Given the description of an element on the screen output the (x, y) to click on. 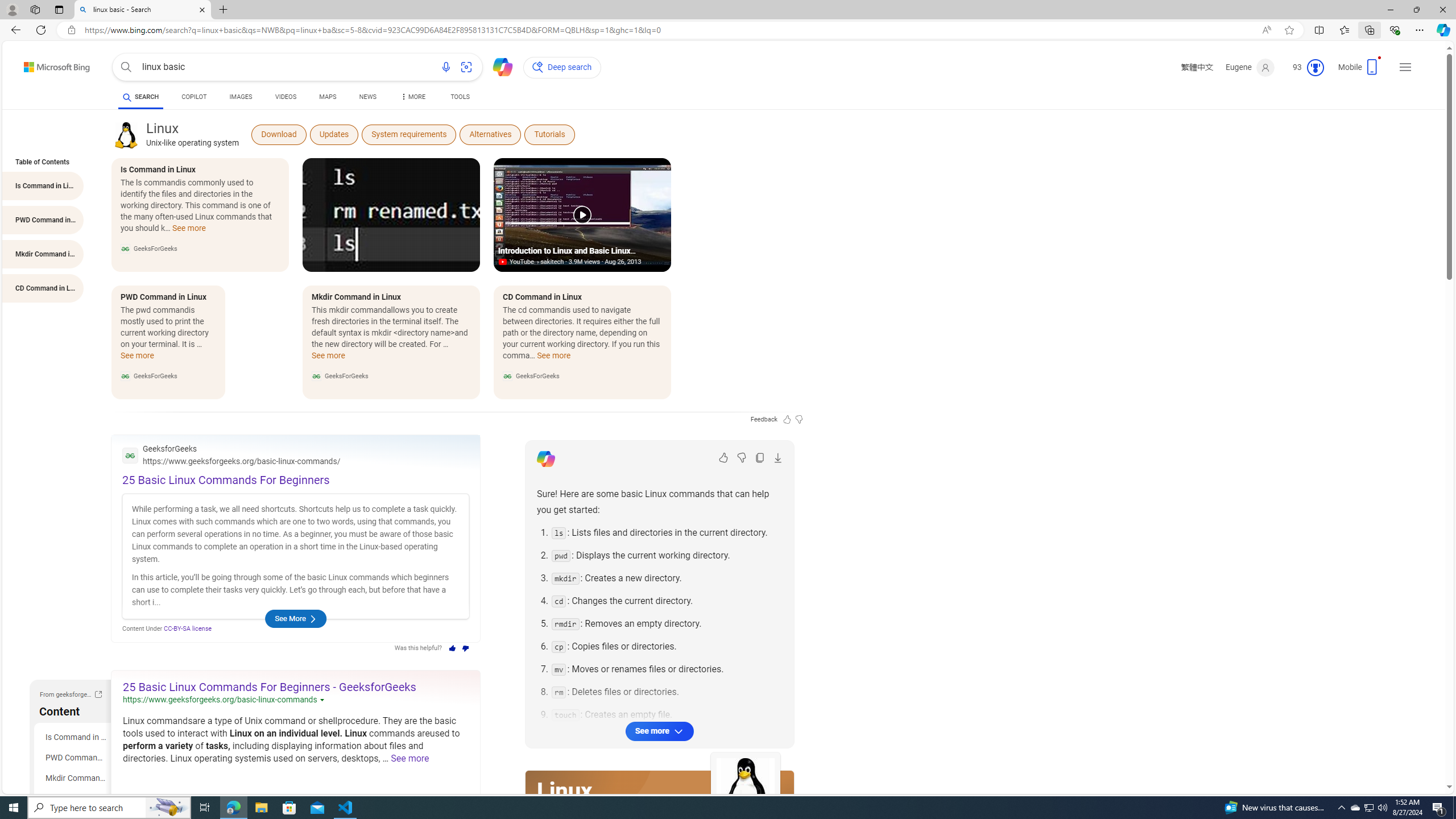
System requirements (409, 134)
PWD Command in Linux (74, 757)
AutomationID: b-scopeListItem-video (285, 98)
Chat (497, 65)
AutomationID: b-scopeListItem-web (140, 96)
See more Is Command in Linux (188, 230)
Linux Unix-like operating system (192, 134)
AutomationID: scope_tools_wrapper (460, 98)
Tutorials (549, 134)
